Given the description of an element on the screen output the (x, y) to click on. 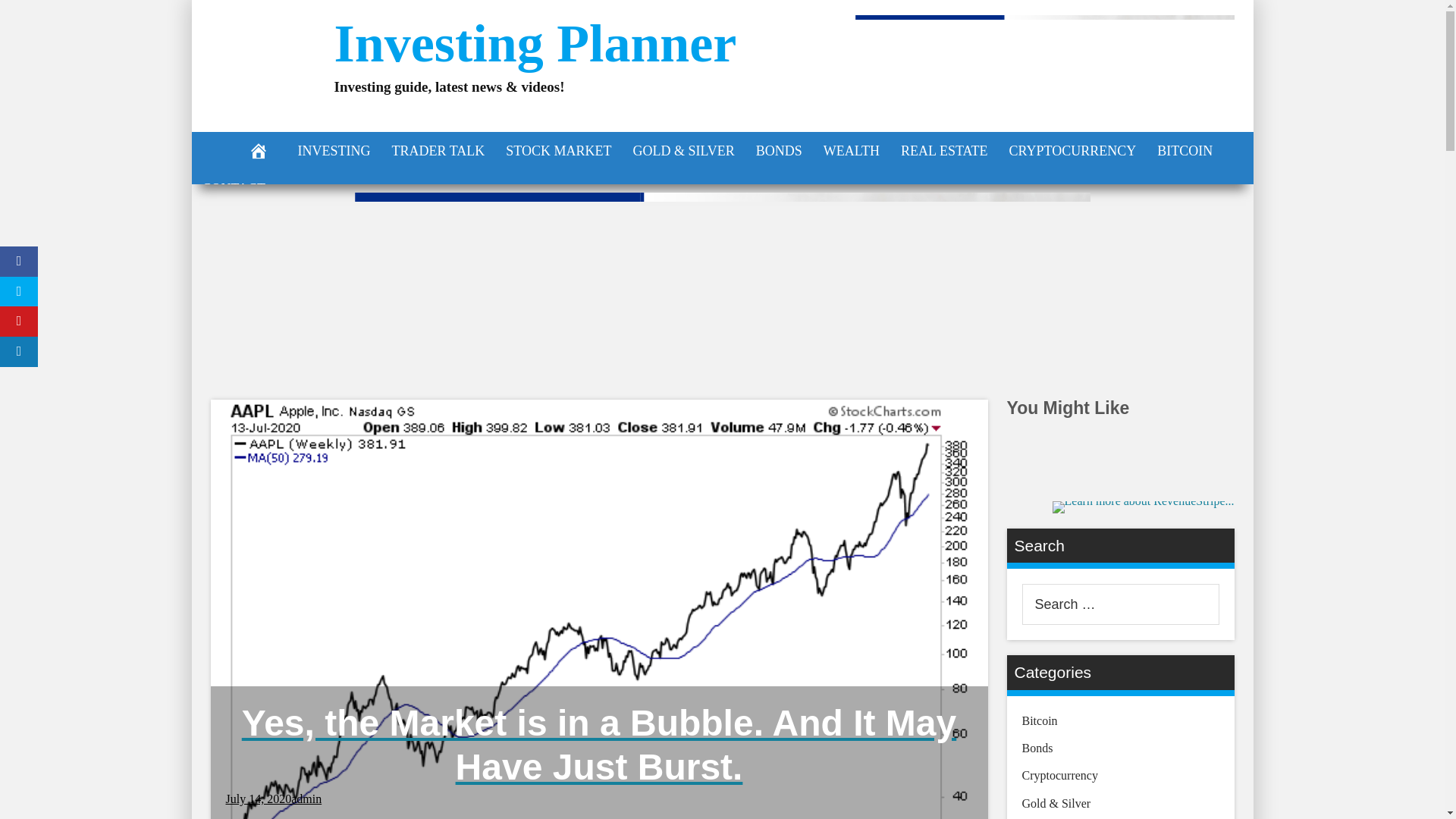
TRADER TALK (437, 150)
Investing Planner (534, 43)
INVESTING (333, 150)
STOCK MARKET (558, 150)
BONDS (778, 150)
